Given the description of an element on the screen output the (x, y) to click on. 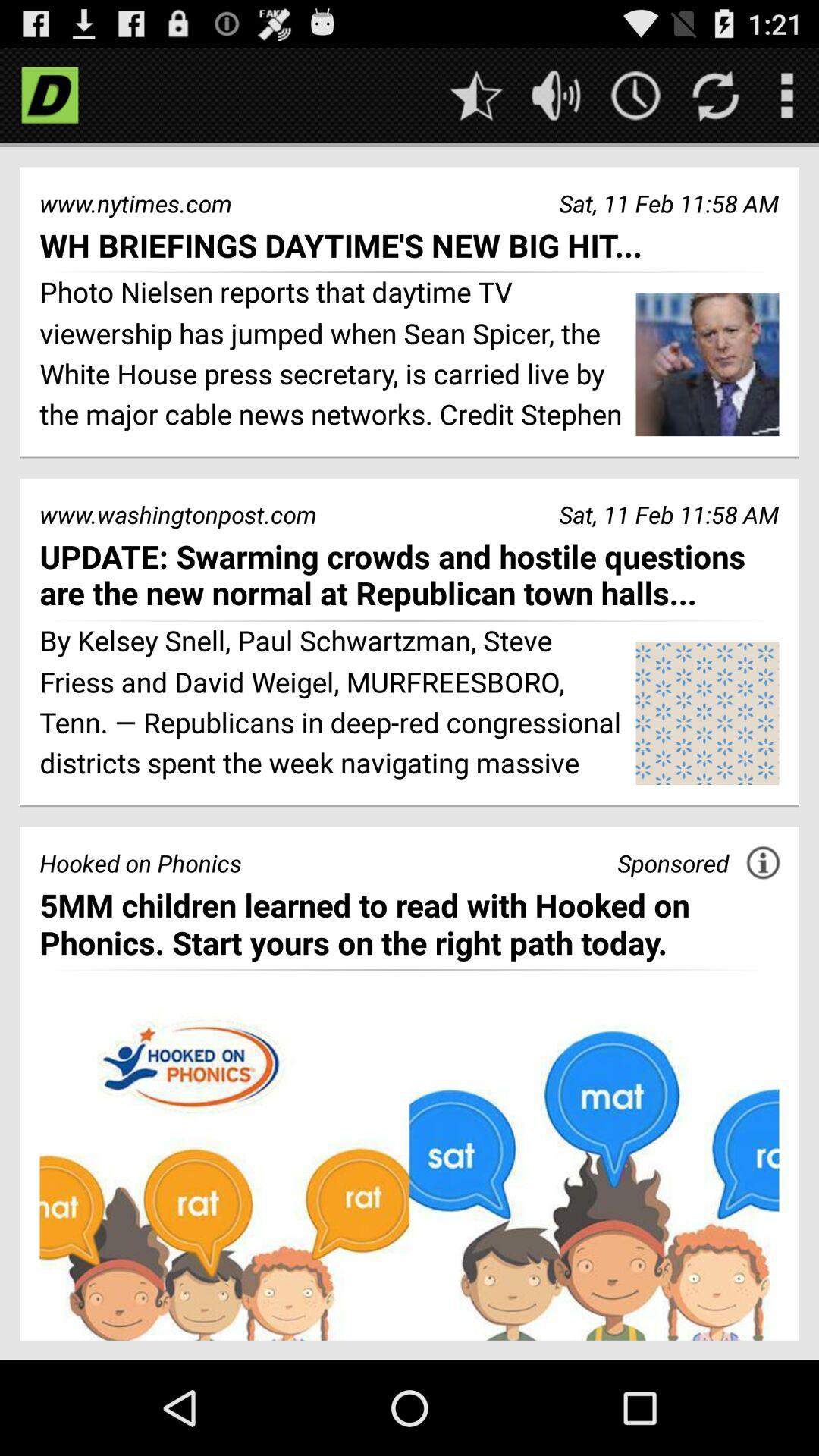
volume (556, 95)
